Given the description of an element on the screen output the (x, y) to click on. 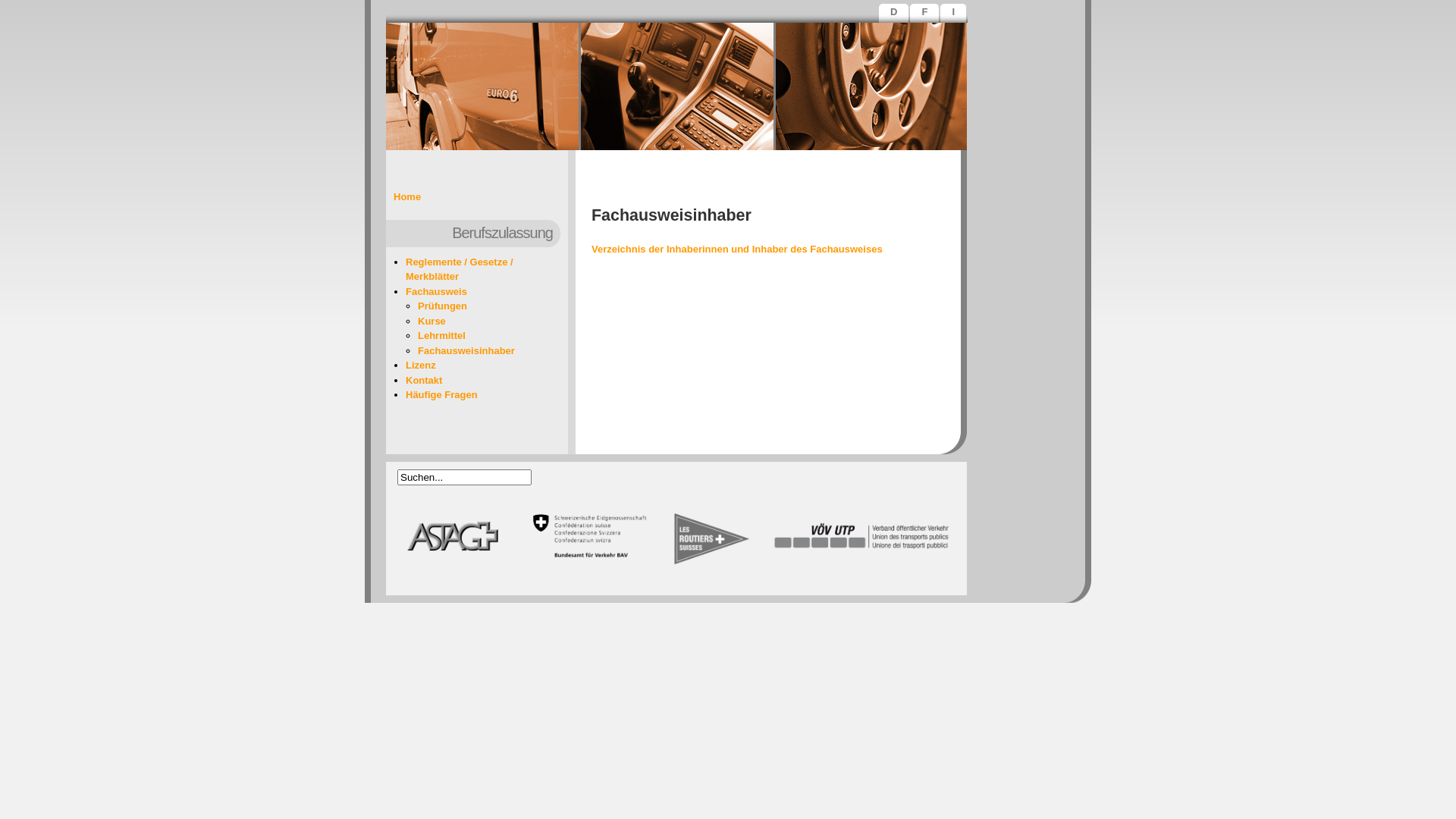
Verzeichnis der Inhaberinnen und Inhaber des Fachausweises Element type: text (736, 248)
Lehrmittel Element type: text (441, 335)
Lizenz Element type: text (420, 364)
Kontakt Element type: text (423, 379)
Kurse Element type: text (431, 320)
F Element type: text (925, 14)
I Element type: text (954, 14)
Fachausweis Element type: text (436, 290)
D Element type: text (894, 14)
Home Element type: text (406, 196)
Fachausweisinhaber Element type: text (465, 349)
